Given the description of an element on the screen output the (x, y) to click on. 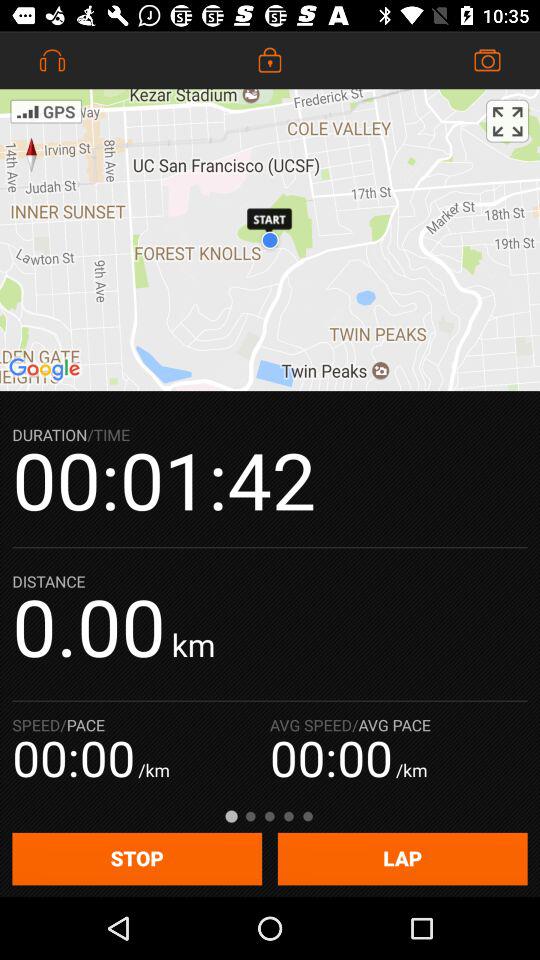
flip until the stop item (137, 858)
